Given the description of an element on the screen output the (x, y) to click on. 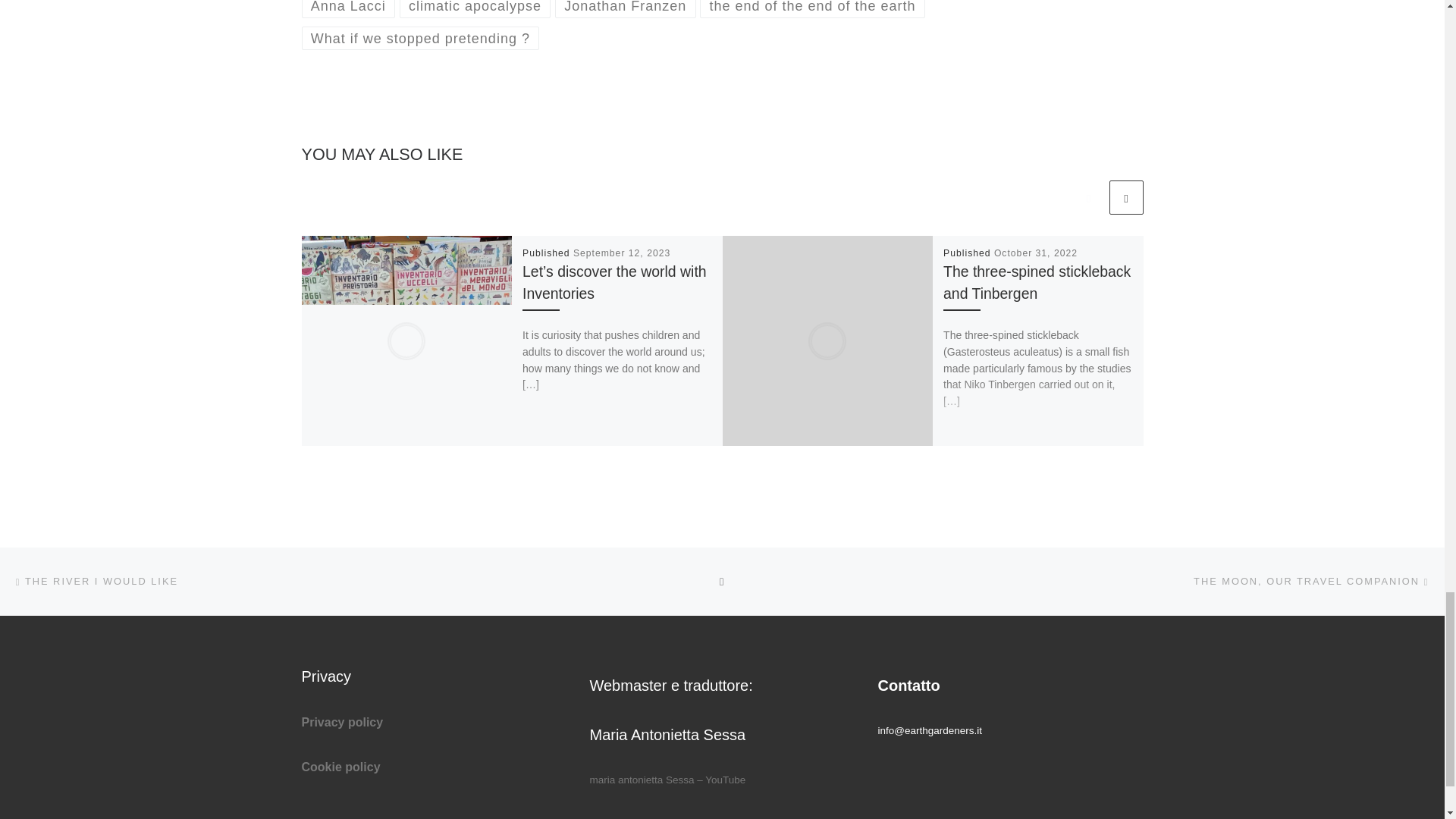
Previous related articles (1088, 197)
View all posts in the end of the end of the earth (812, 9)
Next related articles (1125, 197)
View all posts in climatic apocalypse (474, 9)
View all posts in Anna Lacci (348, 9)
View all posts in Jonathan Franzen (624, 9)
View all posts in What if we stopped pretending ? (420, 37)
